Given the description of an element on the screen output the (x, y) to click on. 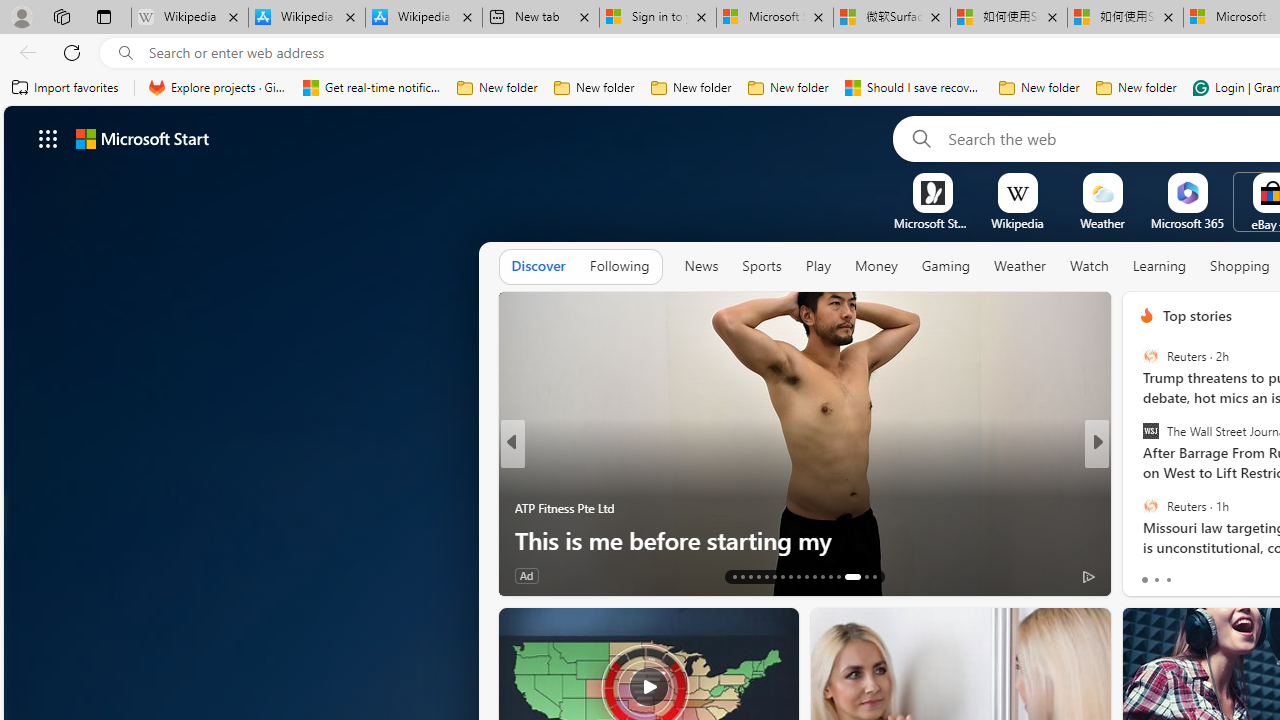
1 Like (1145, 574)
AutomationID: tab-16 (757, 576)
AutomationID: tab-24 (821, 576)
